Given the description of an element on the screen output the (x, y) to click on. 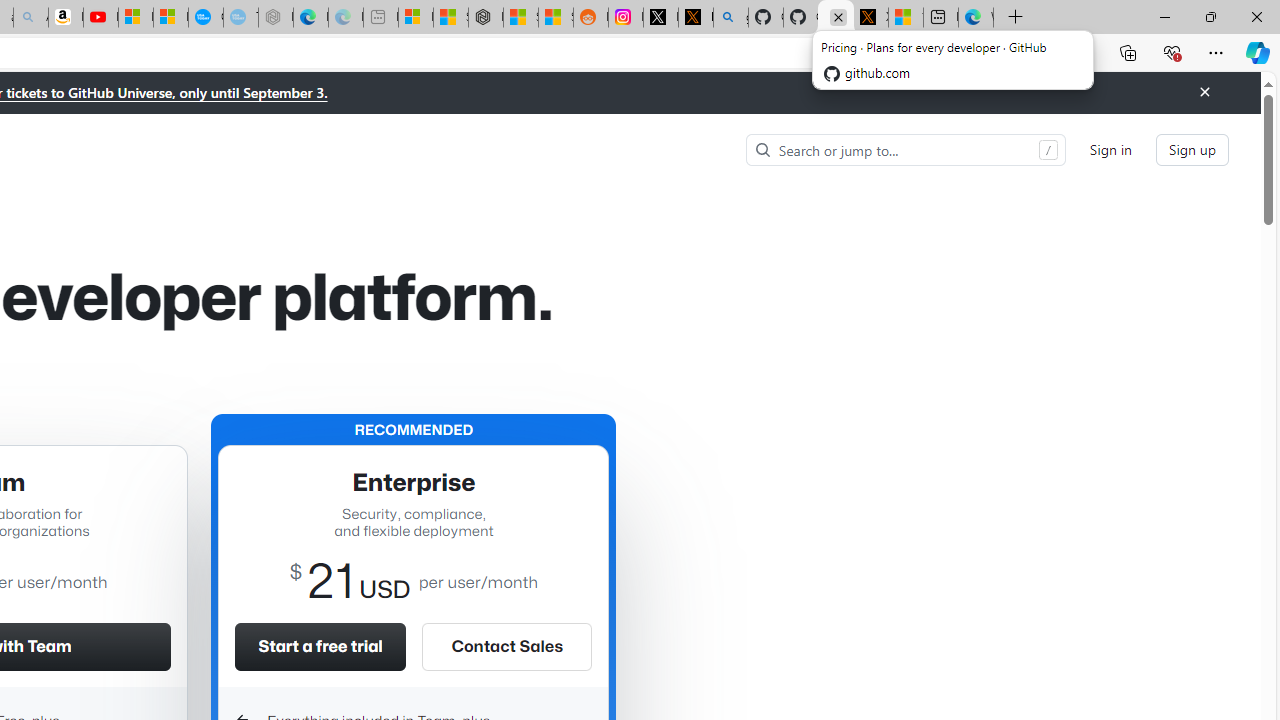
help.x.com | 524: A timeout occurred (695, 17)
Day 1: Arriving in Yemen (surreal to be here) - YouTube (100, 17)
App available. Install GitHub (950, 53)
Opinion: Op-Ed and Commentary - USA TODAY (205, 17)
Start a free trial (320, 646)
Contact Sales (506, 646)
X Privacy Policy (870, 17)
The most popular Google 'how to' searches - Sleeping (241, 17)
